Given the description of an element on the screen output the (x, y) to click on. 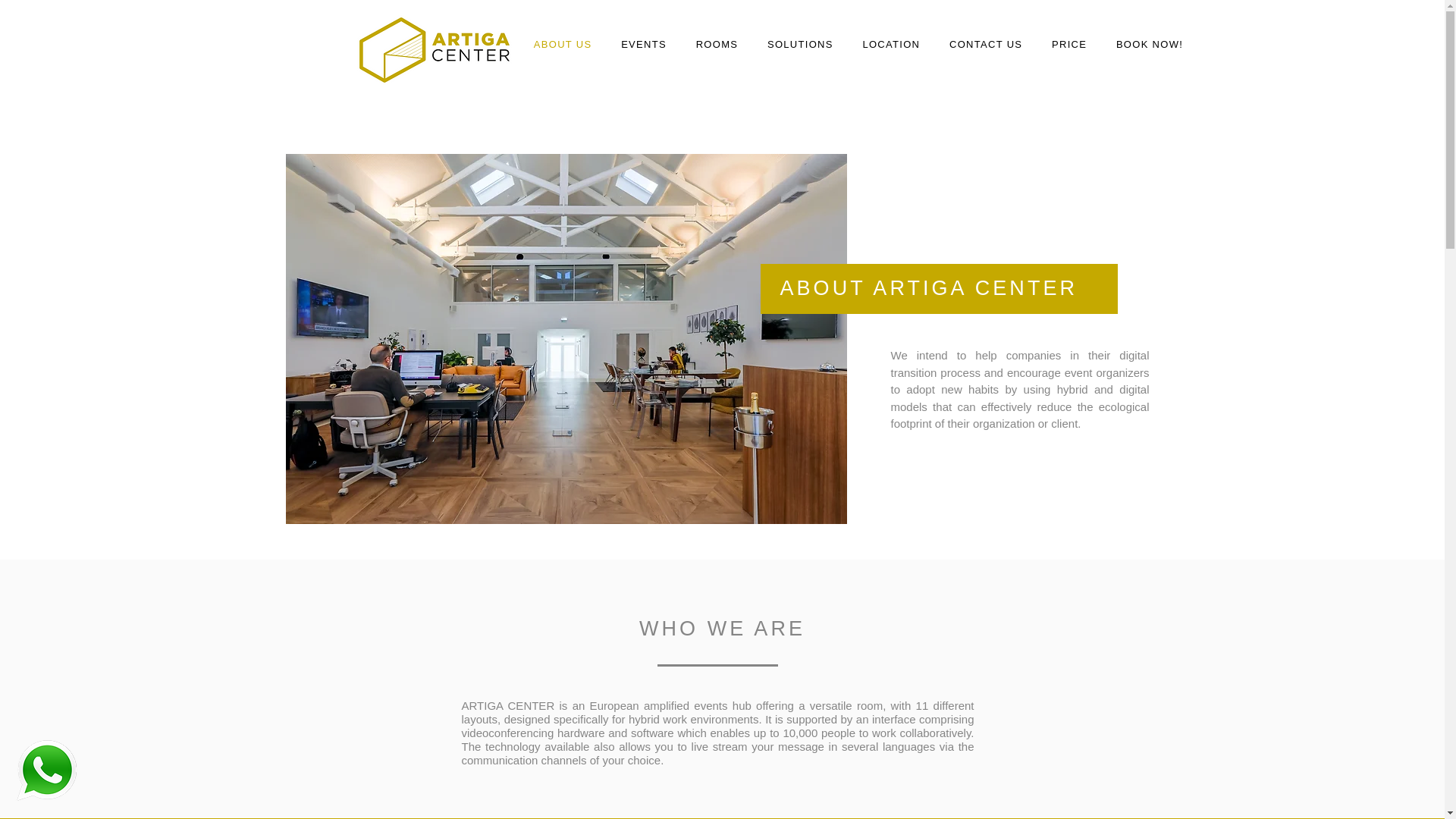
CONTACT US (985, 44)
SOLUTIONS (800, 44)
ABOUT US (561, 44)
ROOMS (716, 44)
PRICE (1070, 44)
EVENTS (644, 44)
BOOK NOW! (1150, 44)
LOCATION (890, 44)
